Given the description of an element on the screen output the (x, y) to click on. 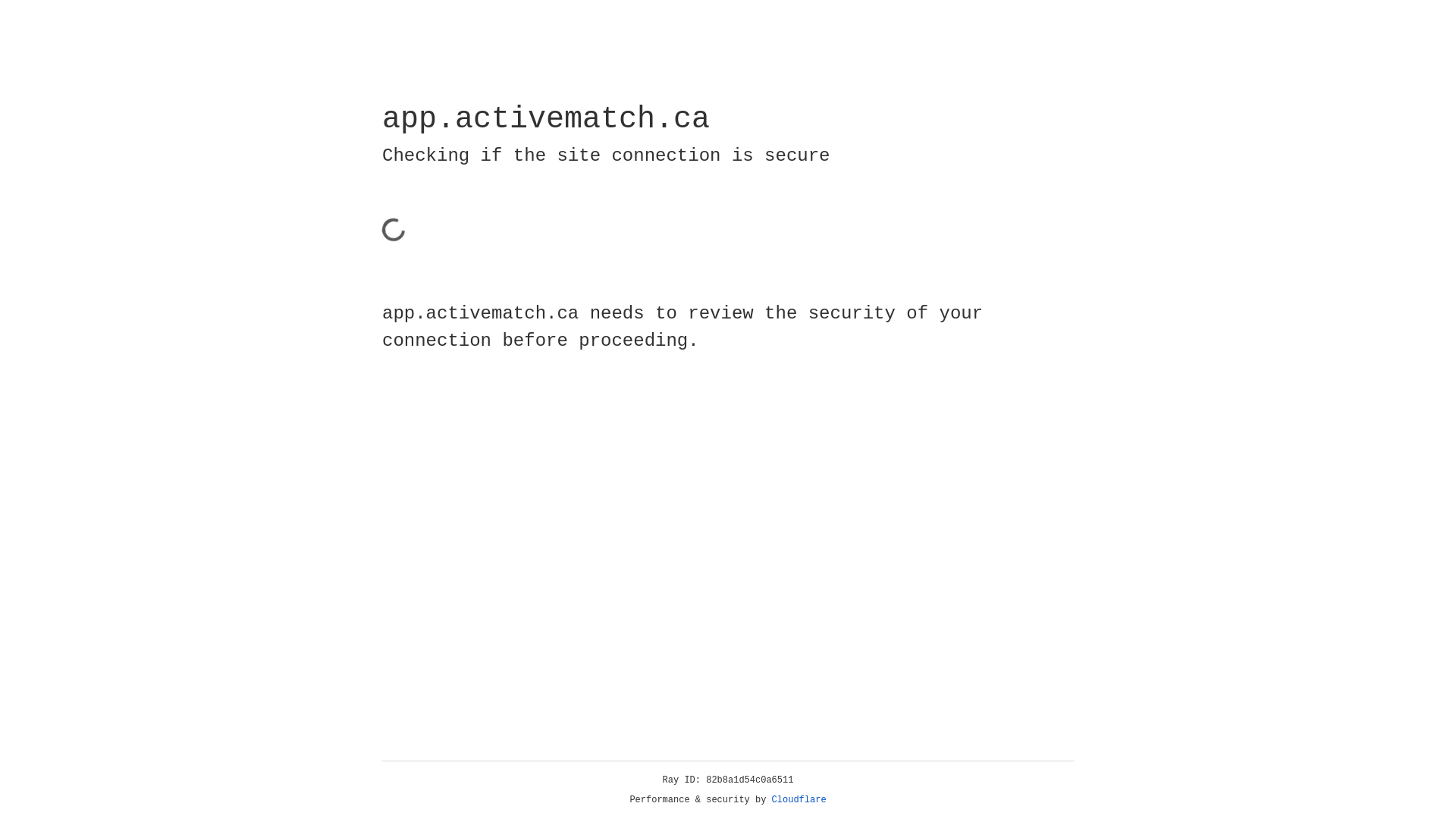
Cloudflare Element type: text (798, 799)
